Given the description of an element on the screen output the (x, y) to click on. 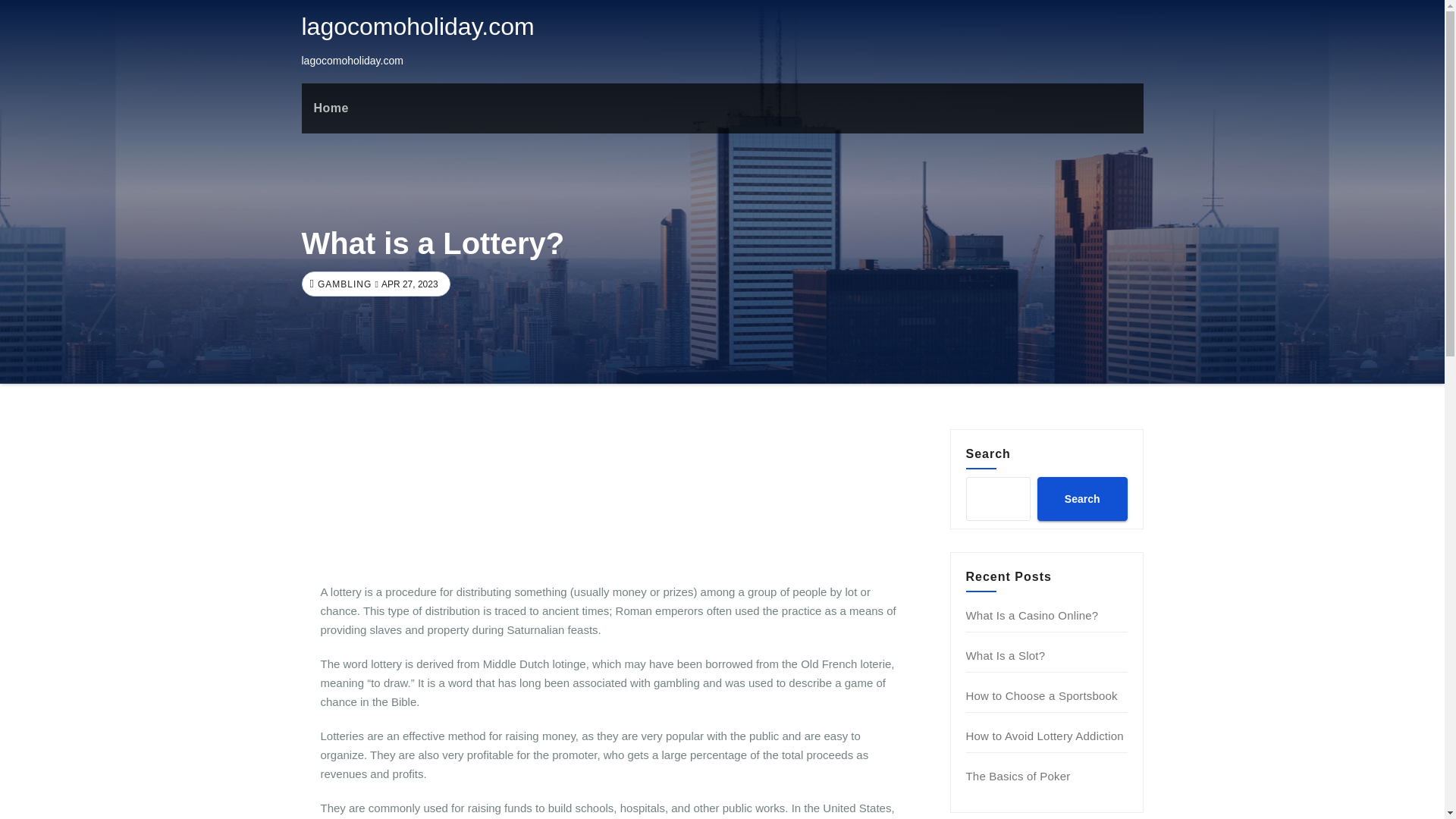
How to Avoid Lottery Addiction (1045, 735)
Home (331, 108)
How to Choose a Sportsbook (1042, 695)
Search (1081, 498)
What Is a Slot? (1005, 655)
What Is a Casino Online? (1032, 615)
Home (331, 108)
GAMBLING (342, 284)
lagocomoholiday.com (417, 26)
The Basics of Poker (1018, 775)
